Given the description of an element on the screen output the (x, y) to click on. 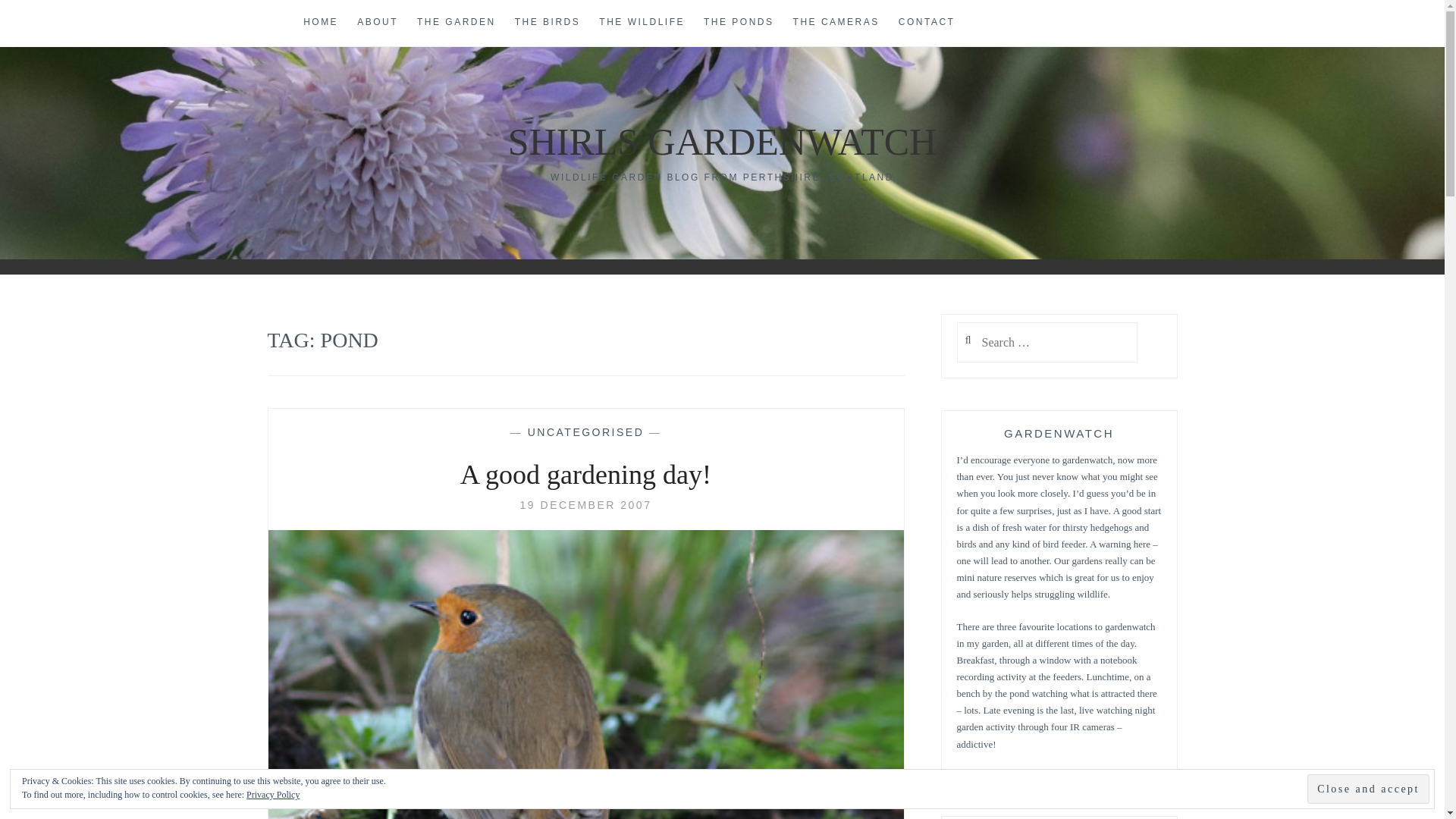
UNCATEGORISED (586, 431)
A good gardening day! (585, 475)
ABOUT (376, 22)
Close and accept (1368, 788)
THE CAMERAS (836, 22)
19 DECEMBER 2007 (585, 504)
THE GARDEN (456, 22)
A good gardening day! (585, 504)
THE BIRDS (547, 22)
THE PONDS (738, 22)
THE WILDLIFE (641, 22)
CONTACT (926, 22)
HOME (319, 22)
Search (42, 19)
SHIRLS GARDENWATCH (722, 141)
